Given the description of an element on the screen output the (x, y) to click on. 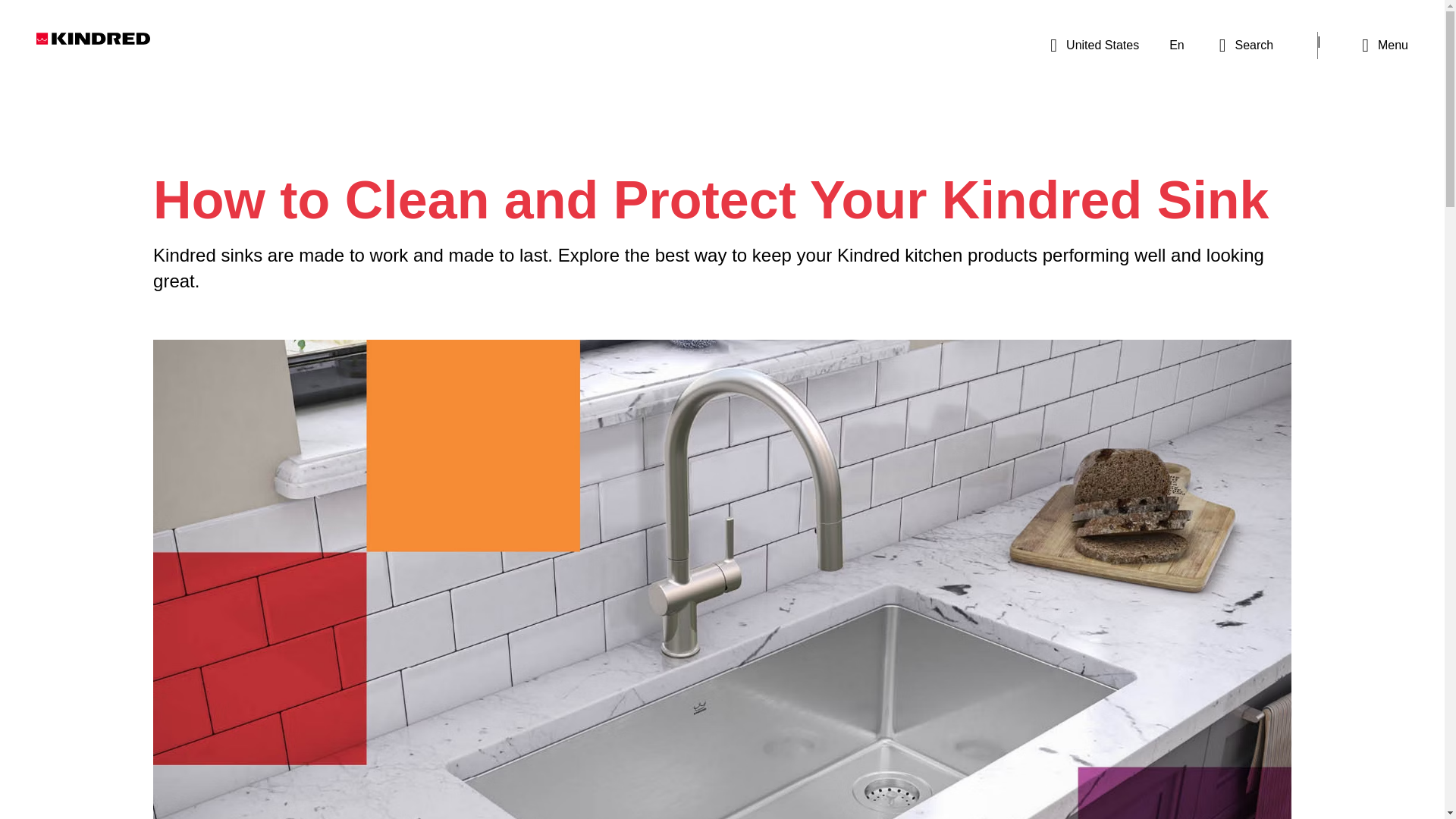
En (1177, 44)
Menu (1384, 45)
United States (1093, 45)
Search (1246, 45)
